Given the description of an element on the screen output the (x, y) to click on. 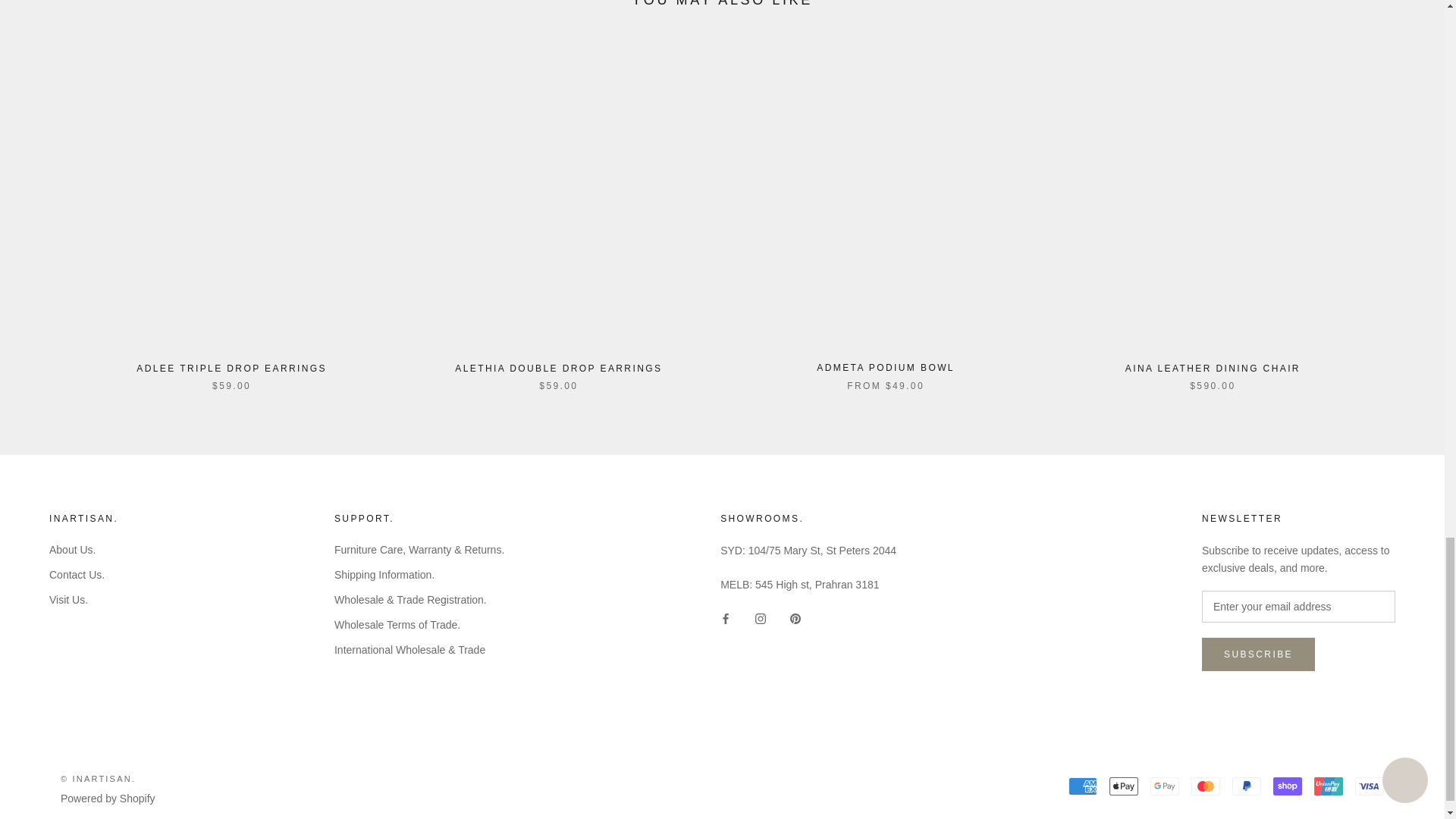
Google Pay (1164, 786)
Mastercard (1205, 786)
American Express (1082, 786)
Apple Pay (1123, 786)
PayPal (1245, 786)
Union Pay (1328, 786)
Visa (1369, 786)
Shop Pay (1286, 786)
